Given the description of an element on the screen output the (x, y) to click on. 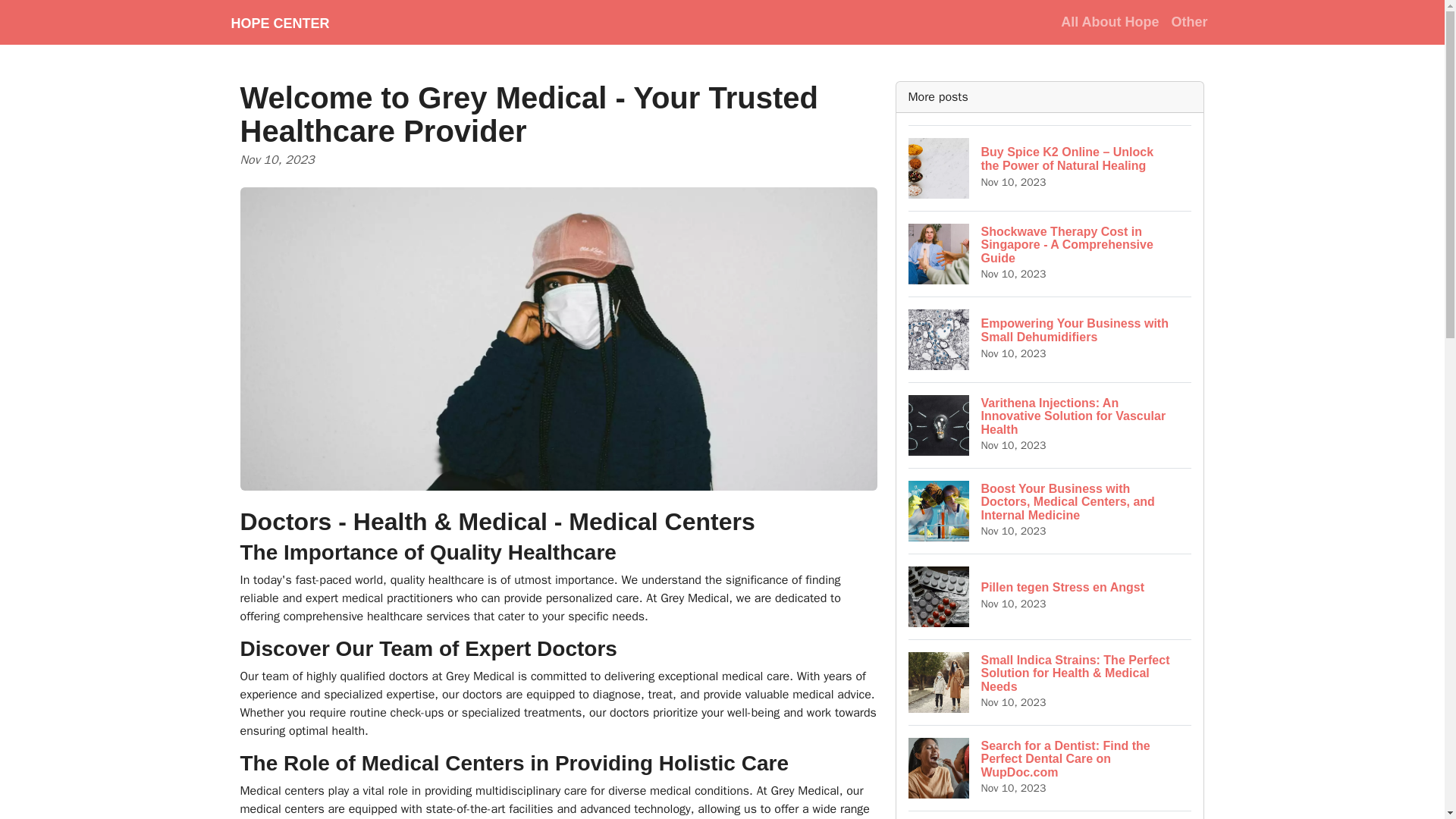
HOPE CENTER (279, 22)
Other (1188, 21)
All About Hope (1050, 596)
